Given the description of an element on the screen output the (x, y) to click on. 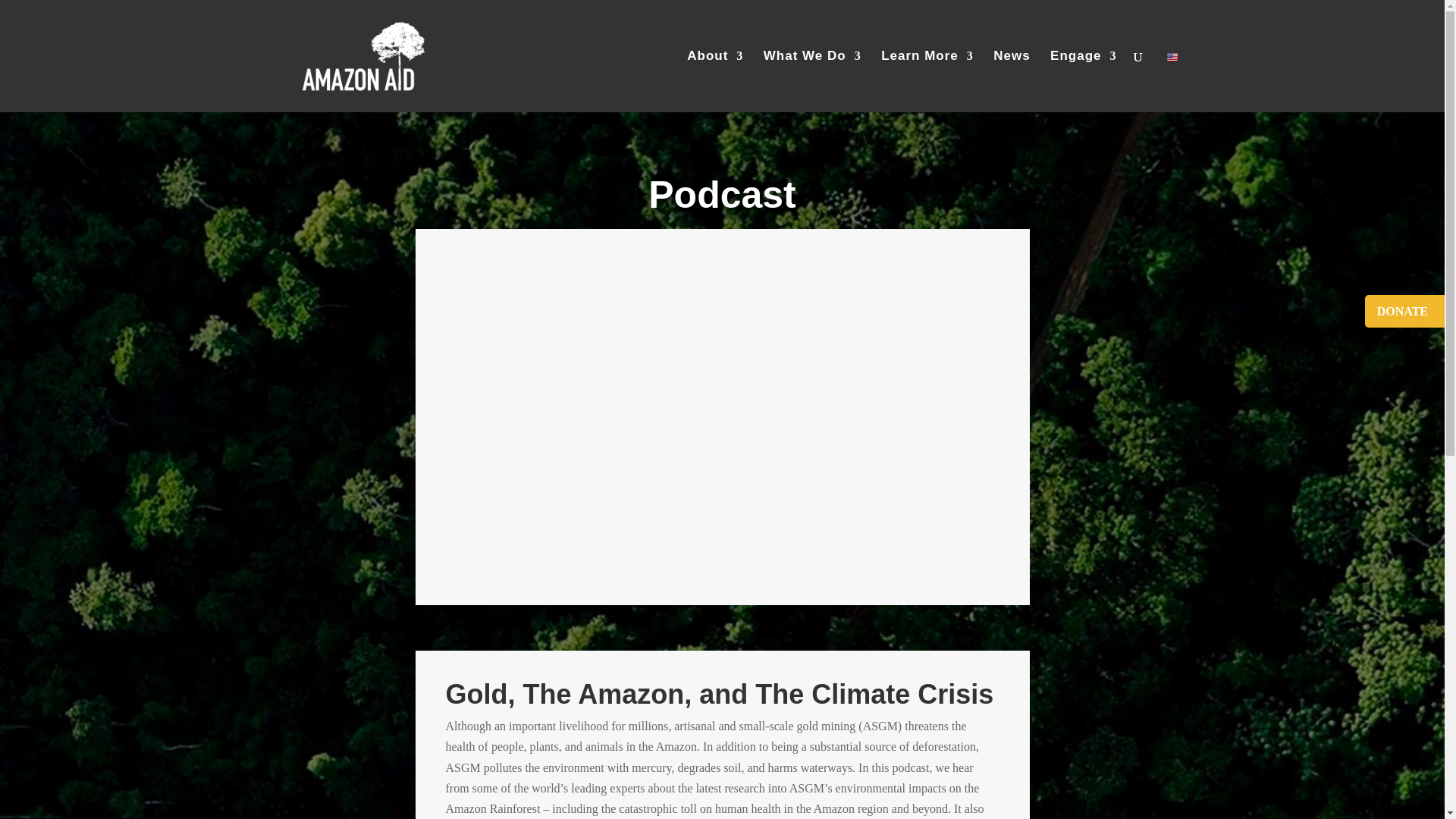
Engage (1082, 81)
Learn More (927, 81)
About (714, 81)
What We Do (811, 81)
DONATE (1402, 310)
